Given the description of an element on the screen output the (x, y) to click on. 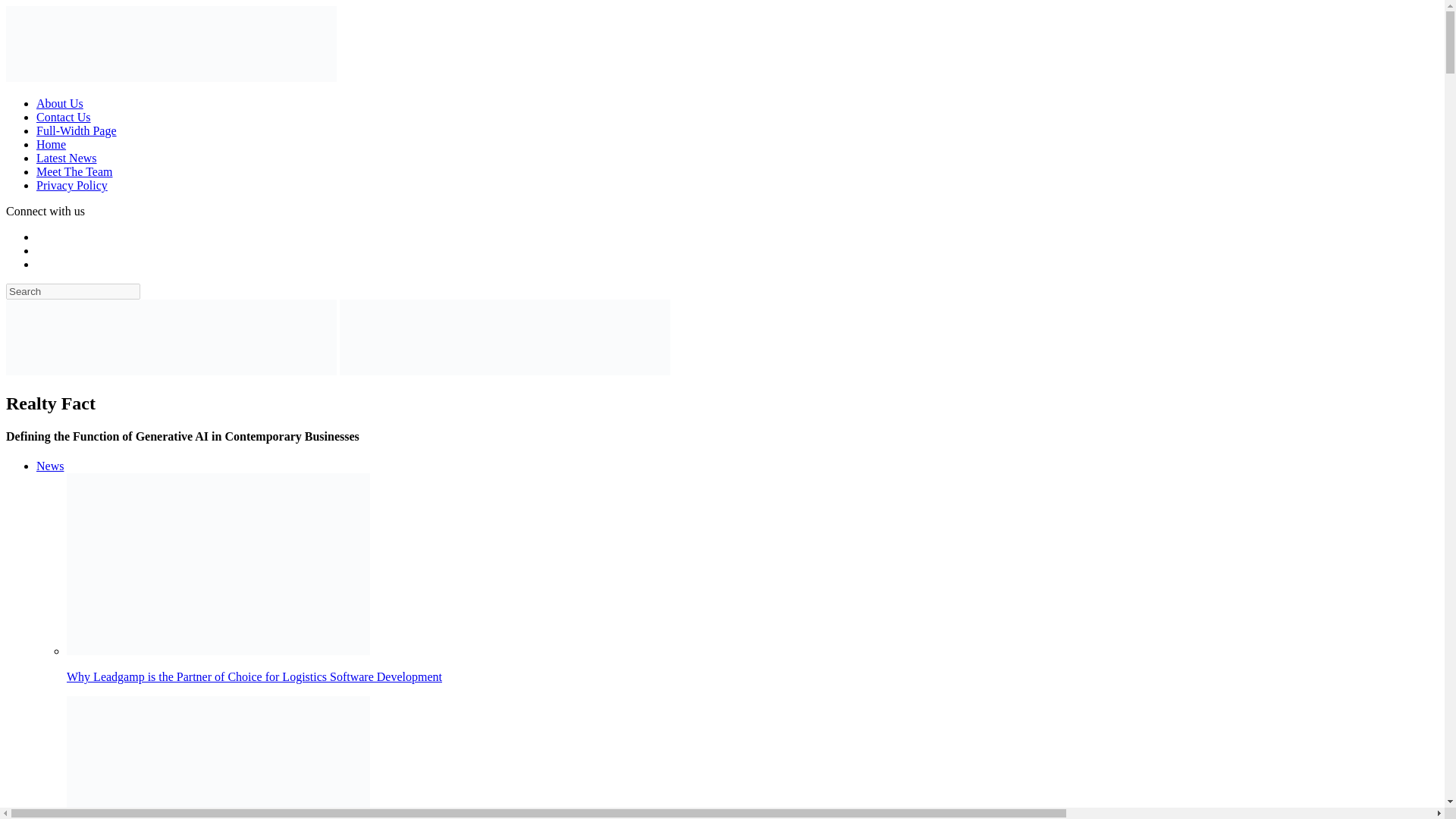
Top 5 Tips for Planning the Perfect Graduation Party 2 (217, 757)
News (50, 465)
Search (72, 291)
Meet The Team (74, 171)
About Us (59, 103)
Privacy Policy (71, 185)
Home (50, 144)
Latest News (66, 157)
Contact Us (63, 116)
